Given the description of an element on the screen output the (x, y) to click on. 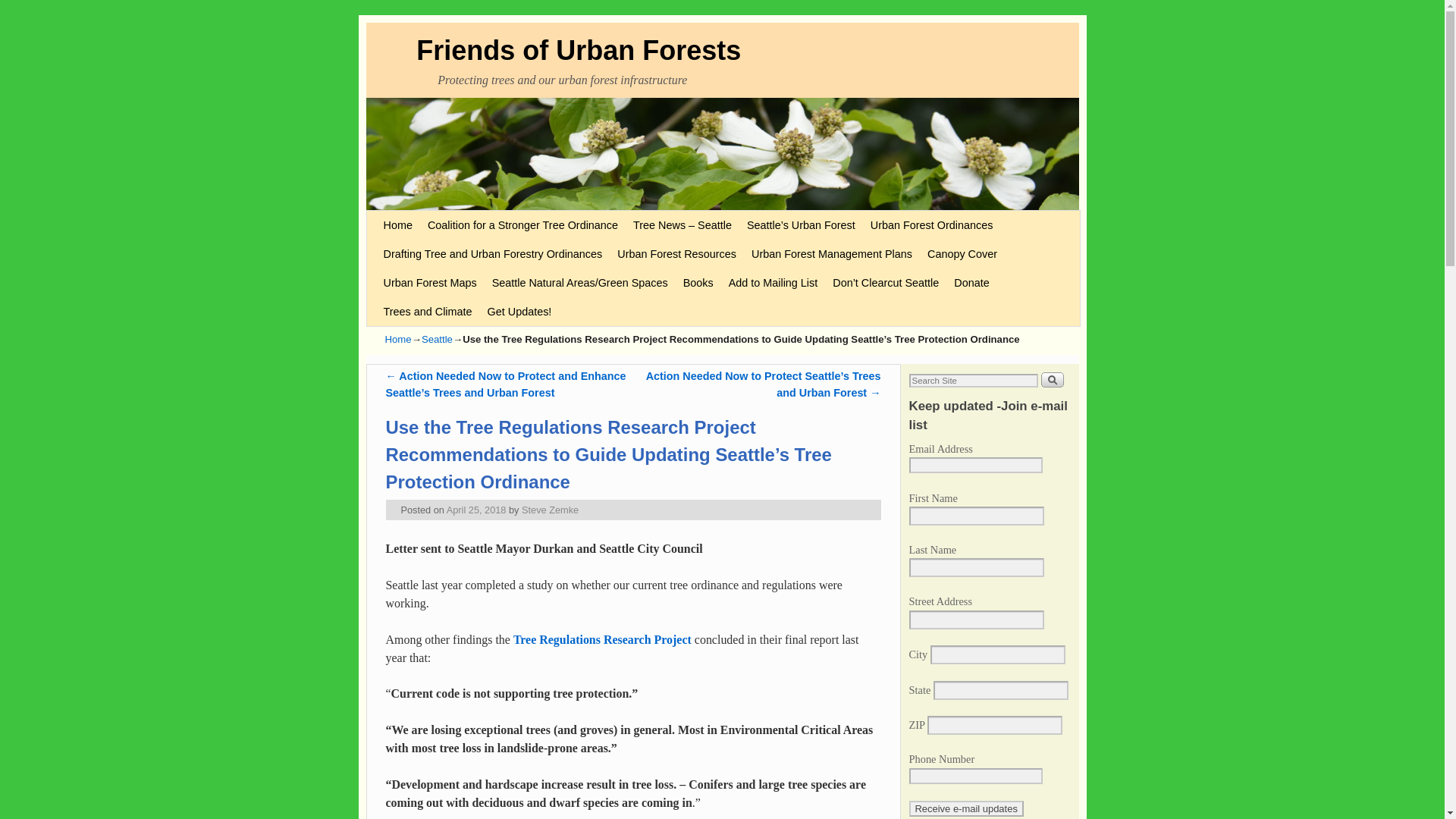
Home (397, 224)
View all posts by Steve Zemke (549, 509)
Skip to primary content (408, 216)
Friends of Urban Forests (578, 50)
April 25, 2018 (476, 509)
Tree Regulations Research Project  (603, 639)
Home (398, 338)
Seattle (437, 338)
10:42 am (476, 509)
Get Updates! (519, 311)
